Given the description of an element on the screen output the (x, y) to click on. 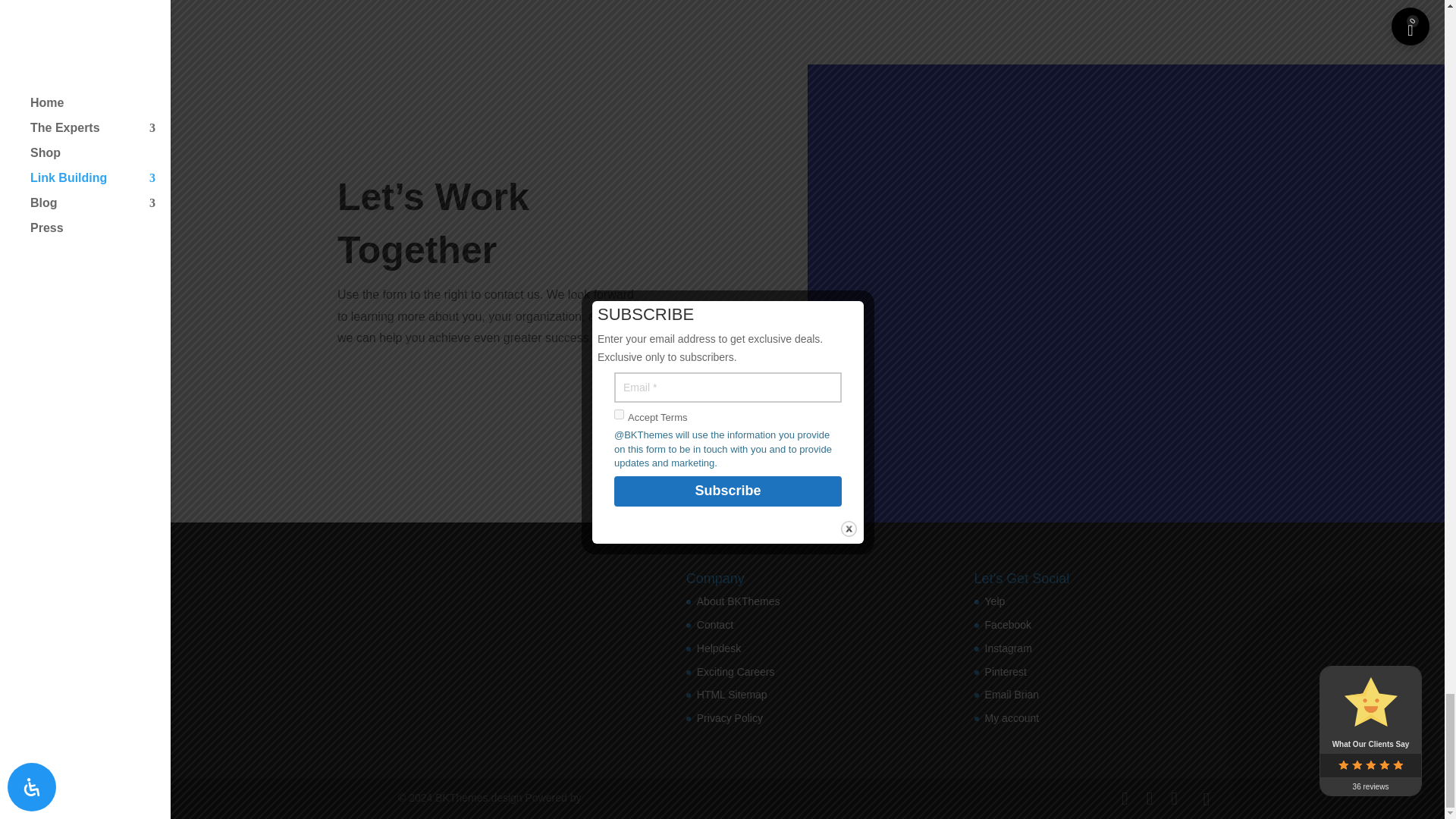
What-Possible (590, 59)
